Given the description of an element on the screen output the (x, y) to click on. 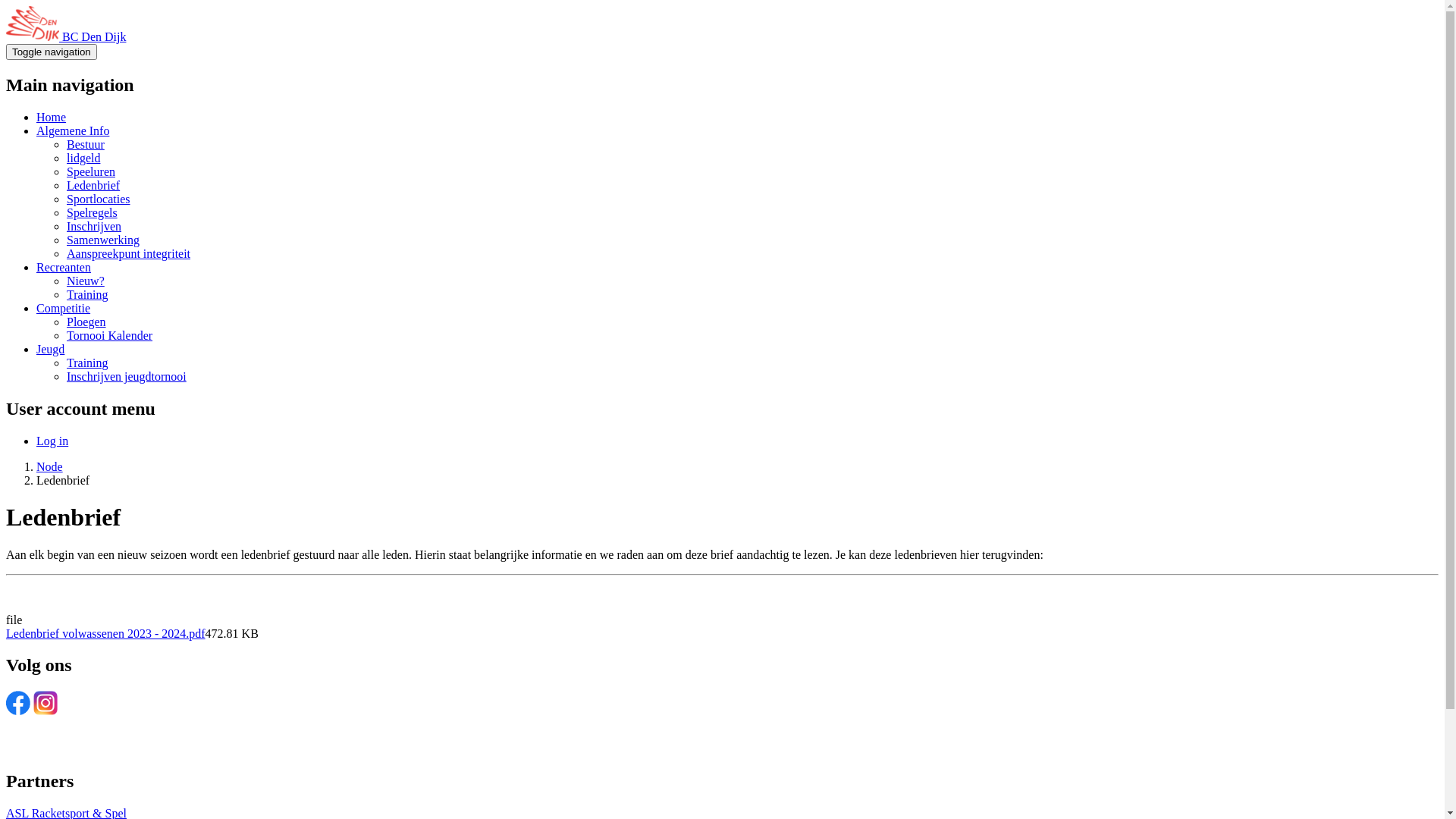
Ledenbrief volwassenen 2023 - 2024.pdf Element type: text (105, 632)
Sportlocaties Element type: text (98, 198)
Node Element type: text (49, 466)
Samenwerking Element type: text (102, 239)
Competitie Element type: text (63, 307)
Home Element type: hover (34, 36)
Ledenbrief Element type: text (92, 184)
Recreanten Element type: text (63, 266)
Inschrijven jeugdtornooi Element type: text (126, 376)
Toggle navigation Element type: text (51, 51)
Inschrijven Element type: text (93, 225)
Speeluren Element type: text (90, 171)
Aanspreekpunt integriteit Element type: text (128, 253)
Bestuur Element type: text (85, 144)
Ploegen Element type: text (86, 321)
Training Element type: text (87, 294)
Nieuw? Element type: text (85, 280)
BC Den Dijk Element type: text (93, 36)
Tornooi Kalender Element type: text (109, 335)
Training Element type: text (87, 362)
Jeugd Element type: text (50, 348)
Algemene Info Element type: text (72, 130)
Skip to main content Element type: text (6, 6)
lidgeld Element type: text (83, 157)
Spelregels Element type: text (91, 212)
Log in Element type: text (52, 440)
Home Element type: text (50, 116)
